Given the description of an element on the screen output the (x, y) to click on. 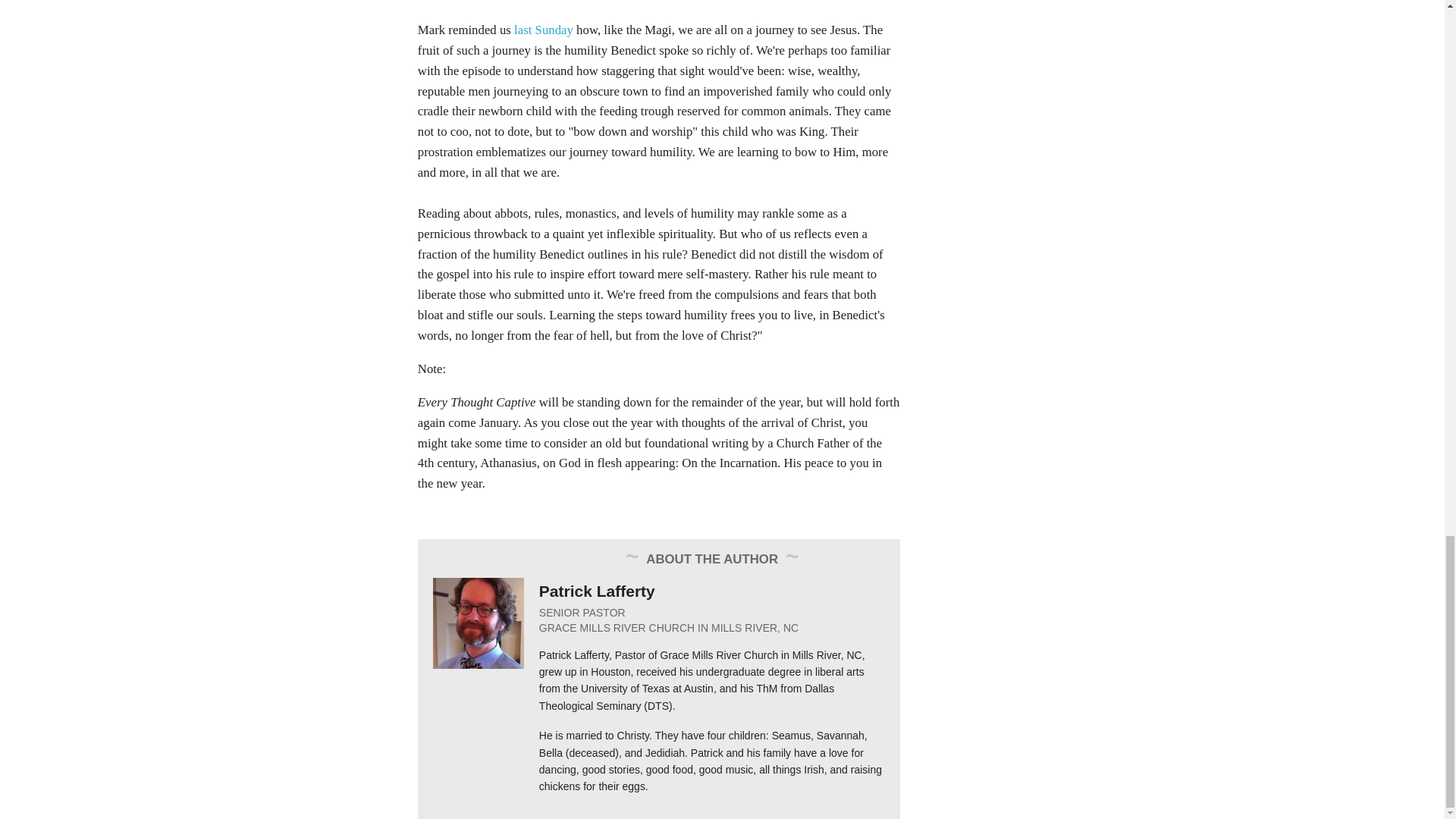
last Sunday (543, 29)
